Given the description of an element on the screen output the (x, y) to click on. 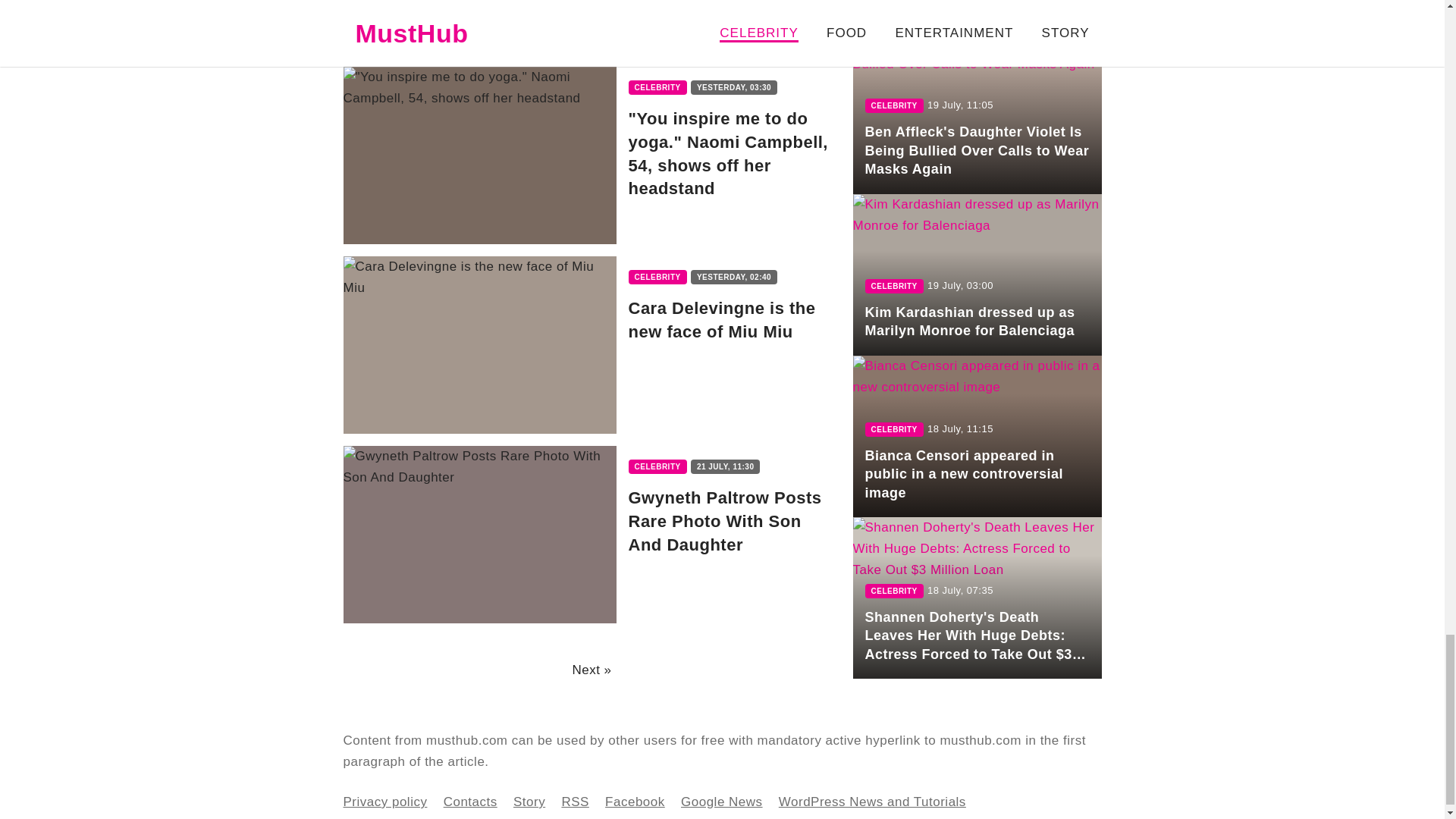
Gwyneth Paltrow Posts Rare Photo With Son And Daughter (591, 534)
Cara Delevingne is the new face of Miu Miu (591, 345)
